Given the description of an element on the screen output the (x, y) to click on. 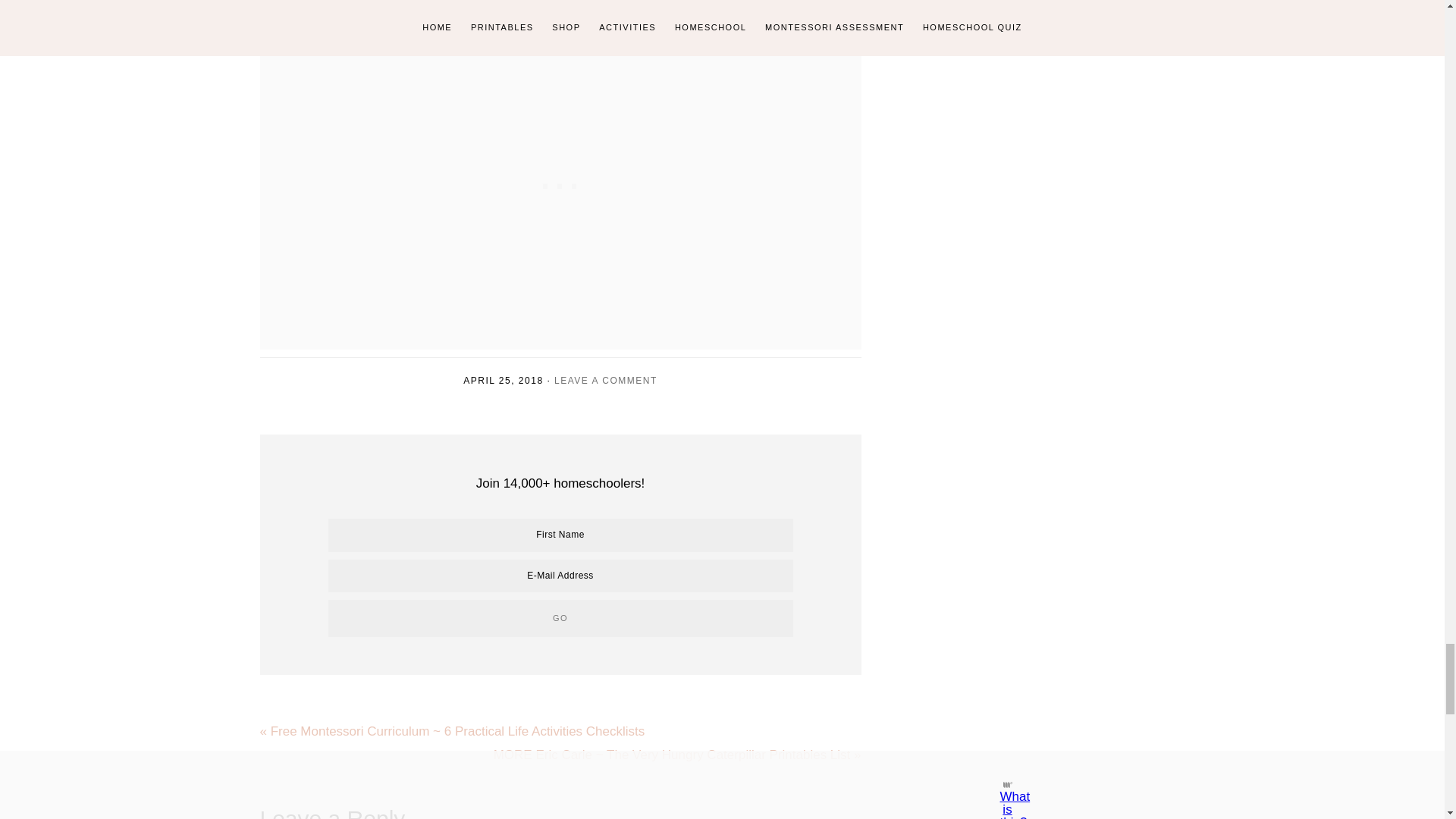
Go (559, 618)
